Given the description of an element on the screen output the (x, y) to click on. 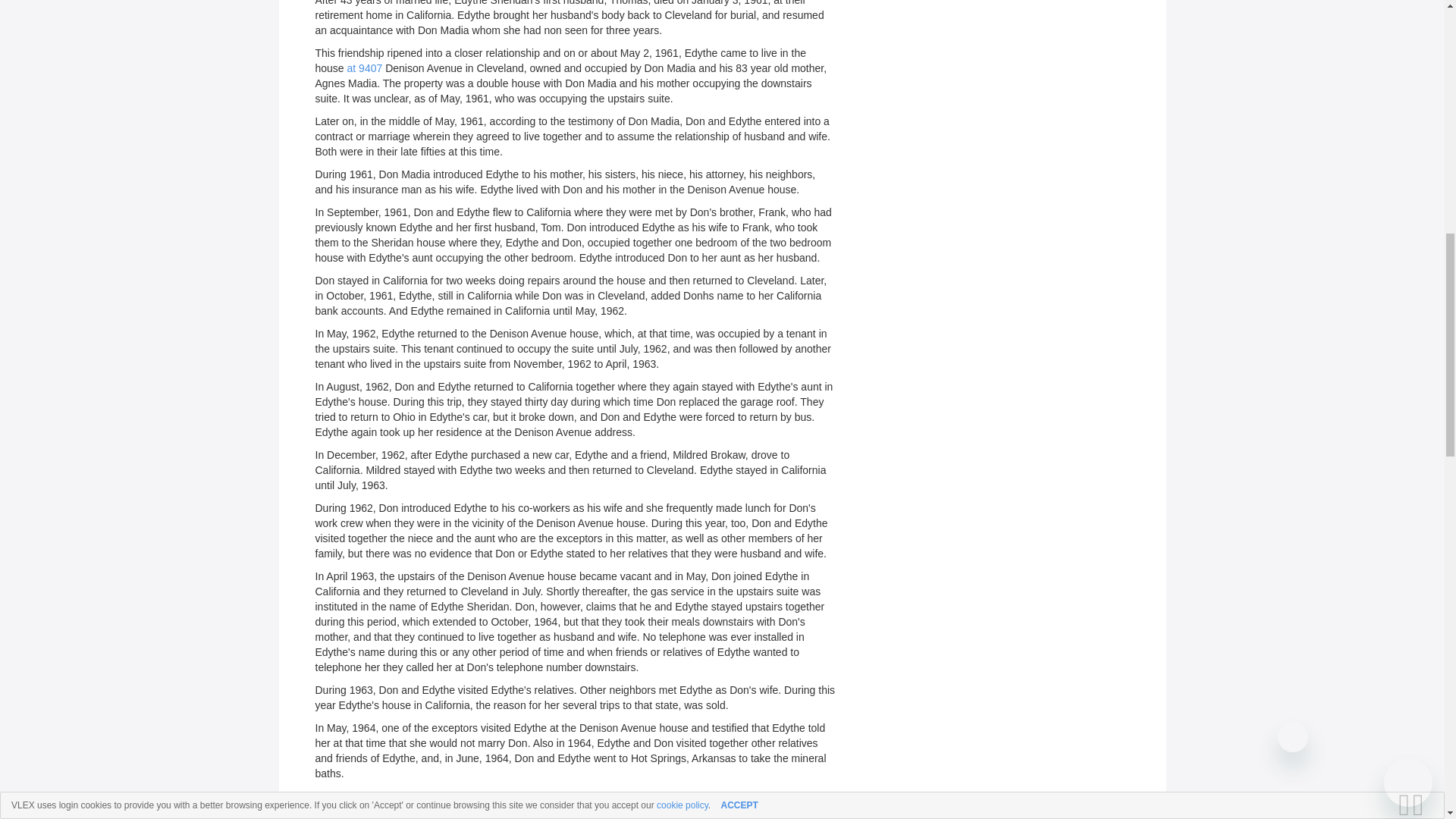
at 9407 (364, 68)
